Given the description of an element on the screen output the (x, y) to click on. 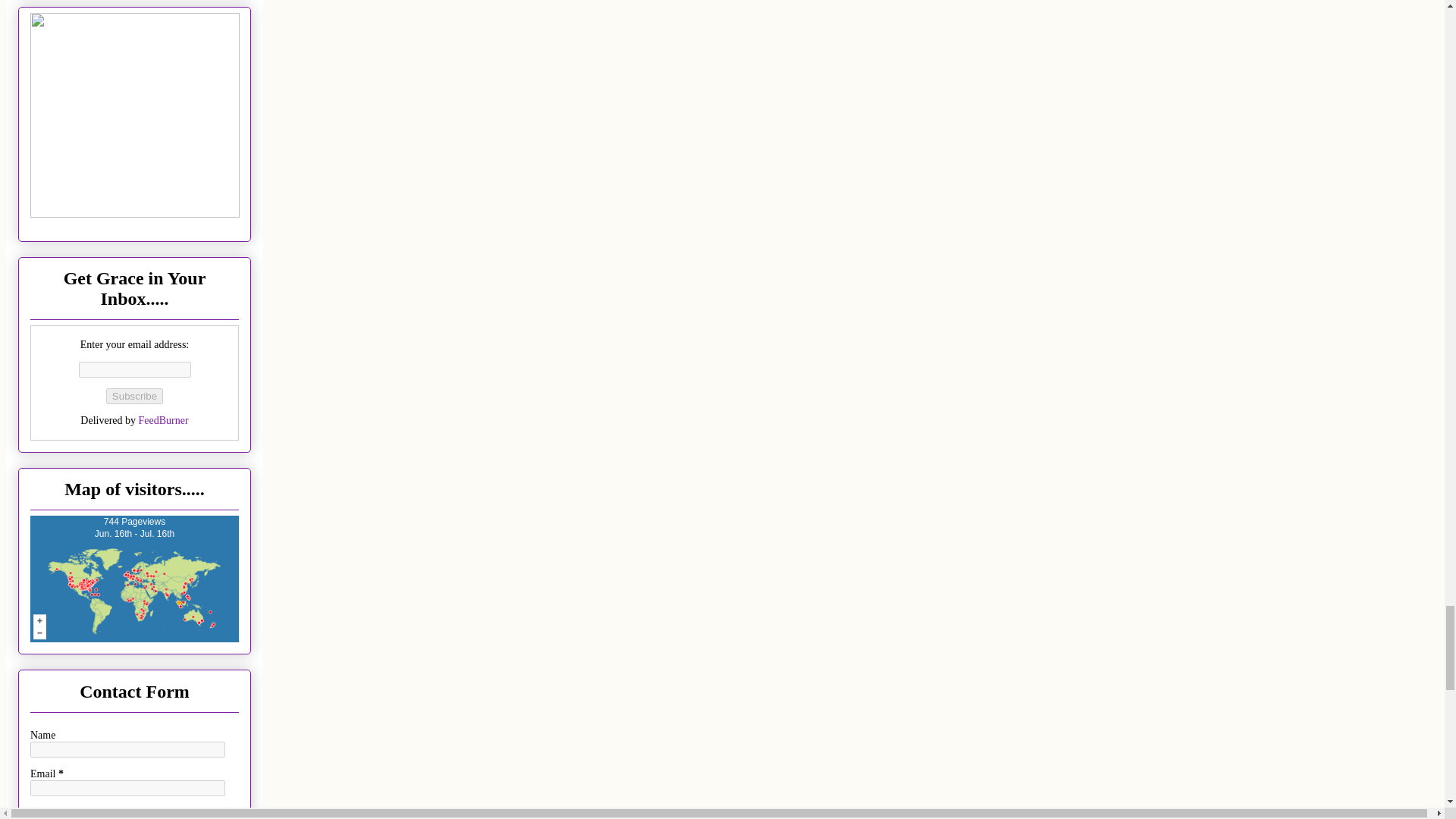
Subscribe (134, 396)
